Given the description of an element on the screen output the (x, y) to click on. 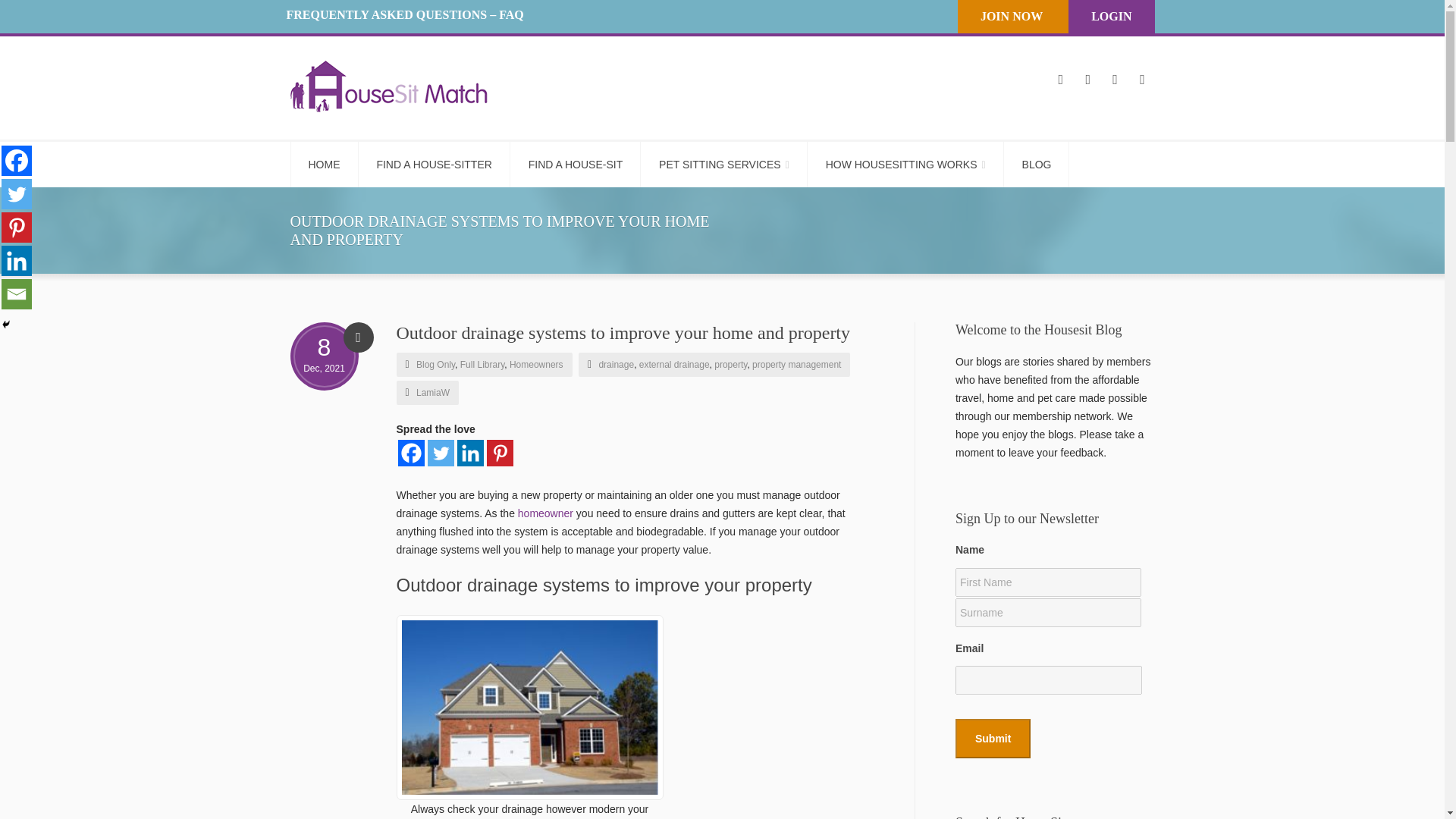
Pinterest (499, 452)
Blog Only (435, 364)
Homeowners (536, 364)
PET SITTING SERVICES (725, 164)
FIND A HOUSE-SITTER (433, 164)
external drainage (674, 364)
property (730, 364)
Linkedin (470, 452)
Twitter (16, 194)
HOW HOUSESITTING WORKS (906, 164)
Linkedin (16, 260)
drainage (615, 364)
BLOG (1037, 164)
Submit (992, 738)
Full Library (481, 364)
